Given the description of an element on the screen output the (x, y) to click on. 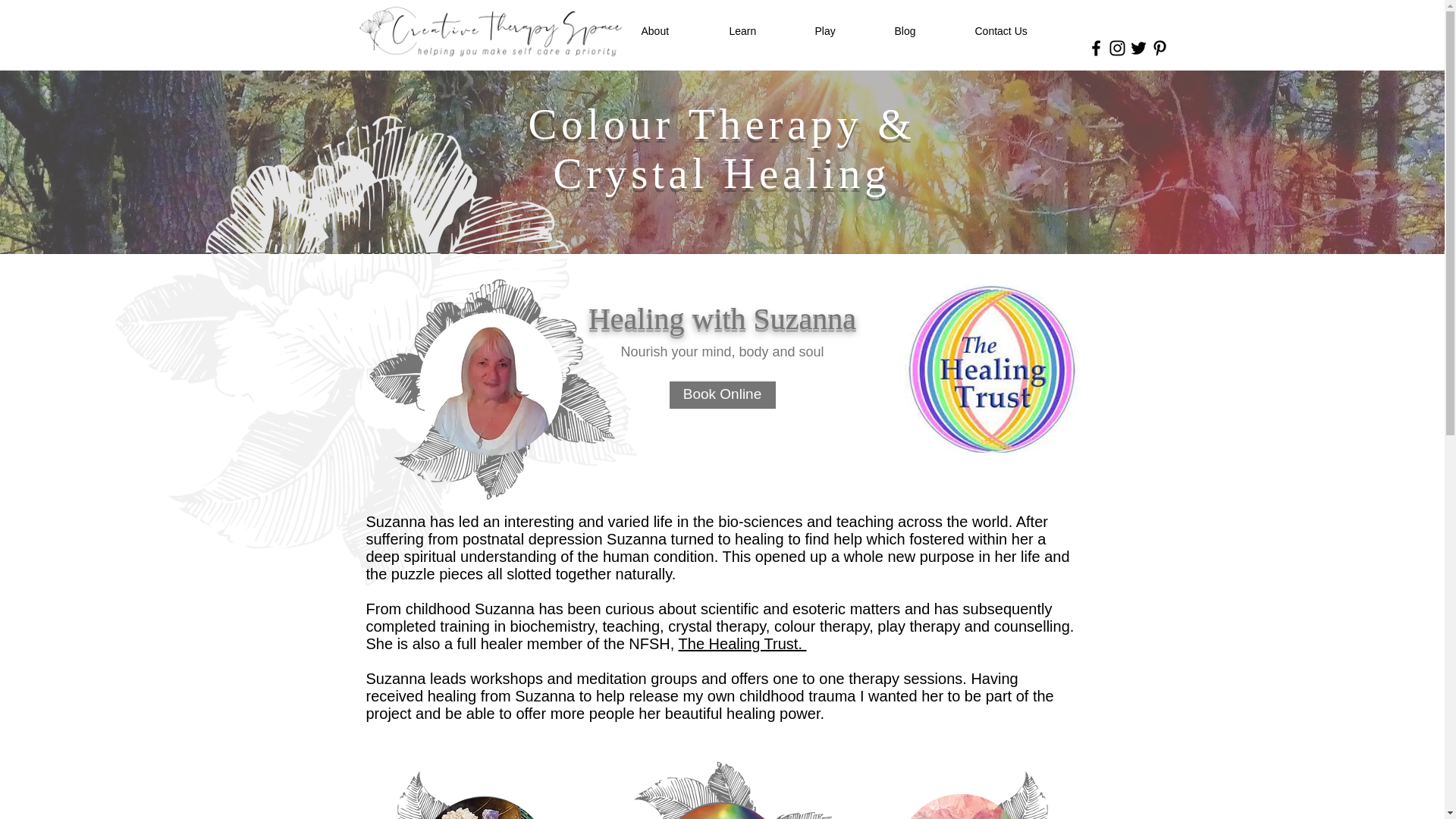
About (677, 31)
Book Online (721, 393)
Blog (927, 31)
The Healing Trust.  (742, 643)
Play (846, 31)
Learn (765, 31)
Contact Us (1024, 31)
